Given the description of an element on the screen output the (x, y) to click on. 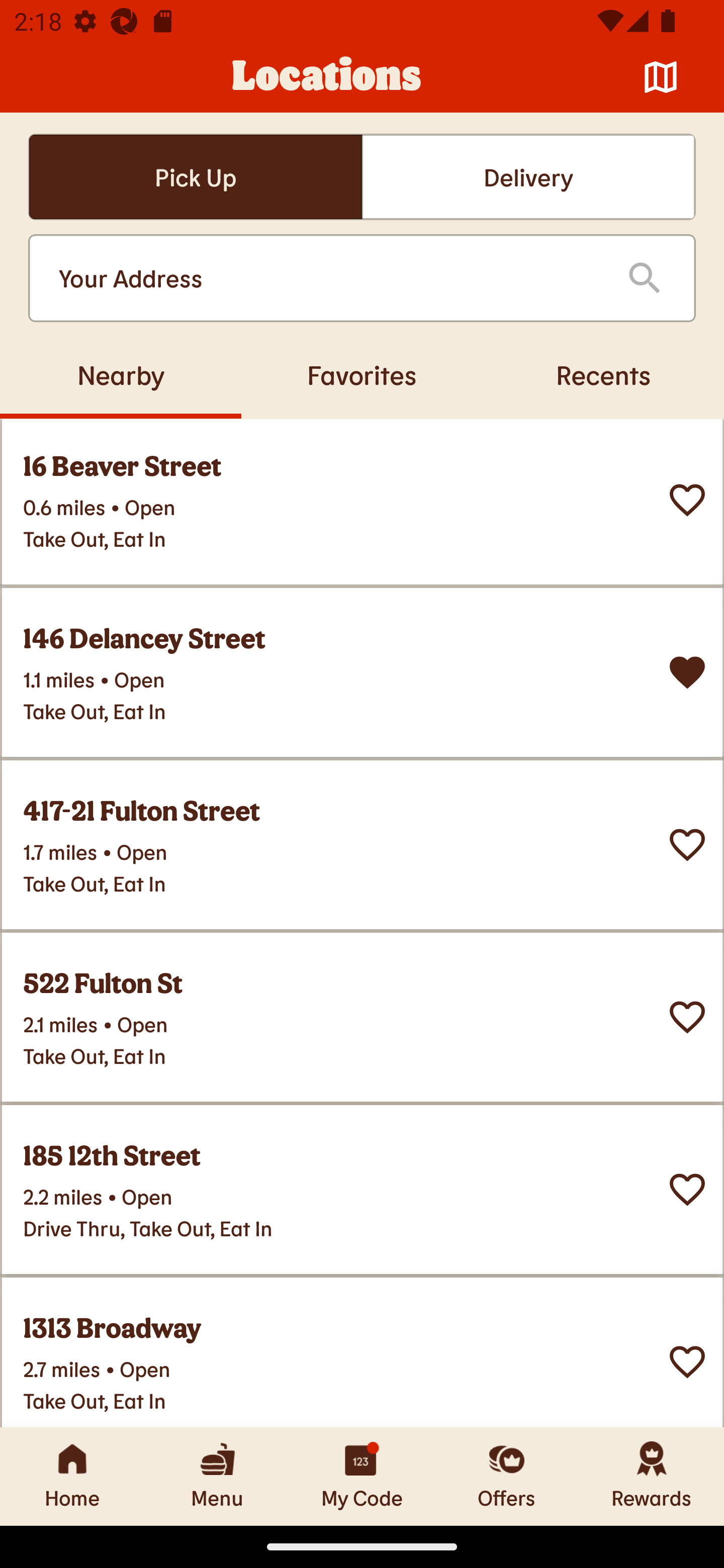
Map 󰦂 (660, 77)
Locations (326, 77)
Pick UpSelected Pick UpSelected Pick Up (195, 176)
Delivery Delivery Delivery (528, 176)
Your Address (327, 277)
Nearby (120, 374)
Favorites (361, 374)
Recents (603, 374)
Set this restaurant as a favorite  (687, 499)
Remove from Favorites?  (687, 671)
Set this restaurant as a favorite  (687, 844)
Set this restaurant as a favorite  (687, 1016)
Set this restaurant as a favorite  (687, 1189)
Set this restaurant as a favorite  (687, 1361)
Home (72, 1475)
Menu (216, 1475)
My Code (361, 1475)
Offers (506, 1475)
Rewards (651, 1475)
